Given the description of an element on the screen output the (x, y) to click on. 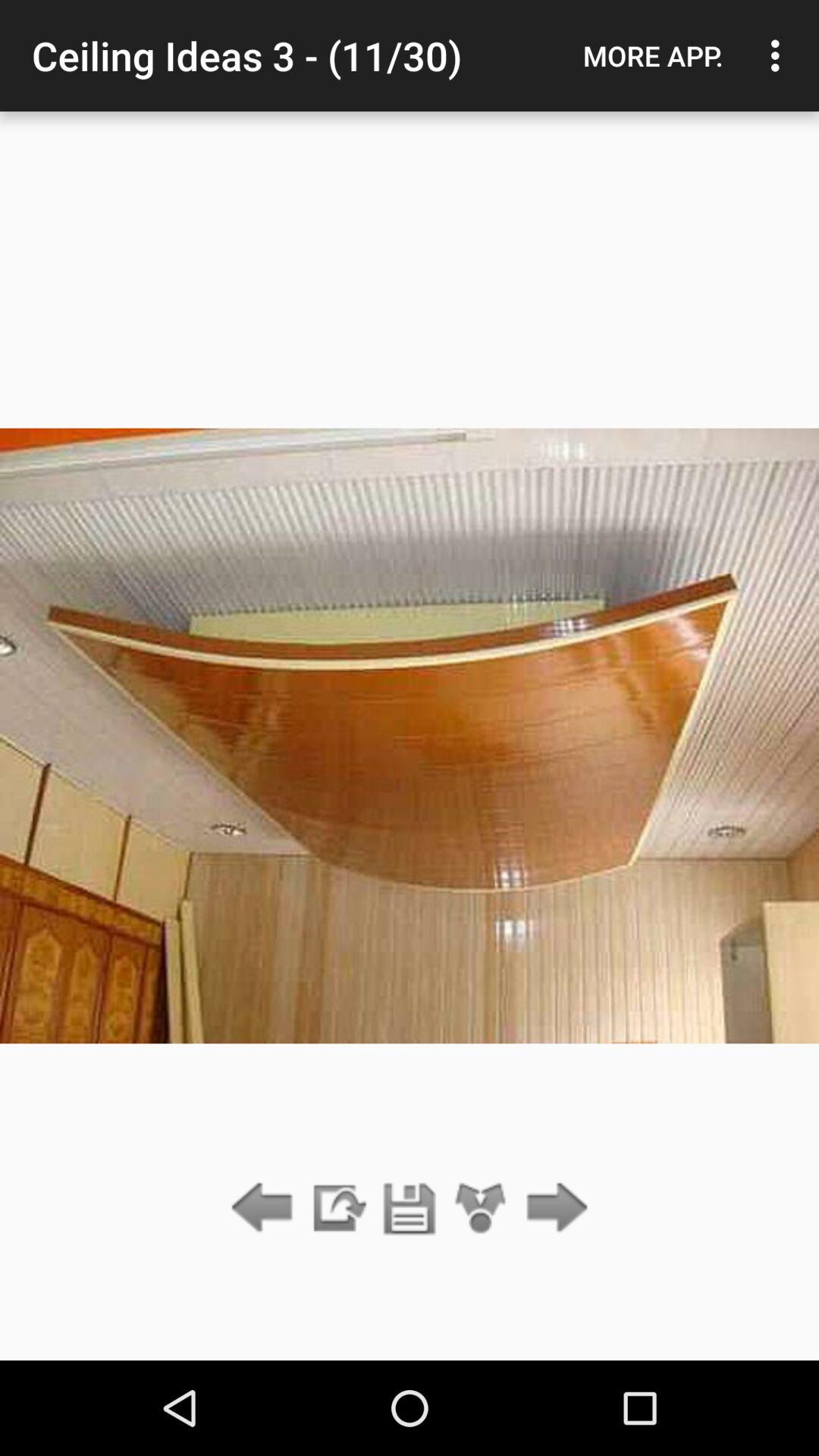
next idea (552, 1209)
